Given the description of an element on the screen output the (x, y) to click on. 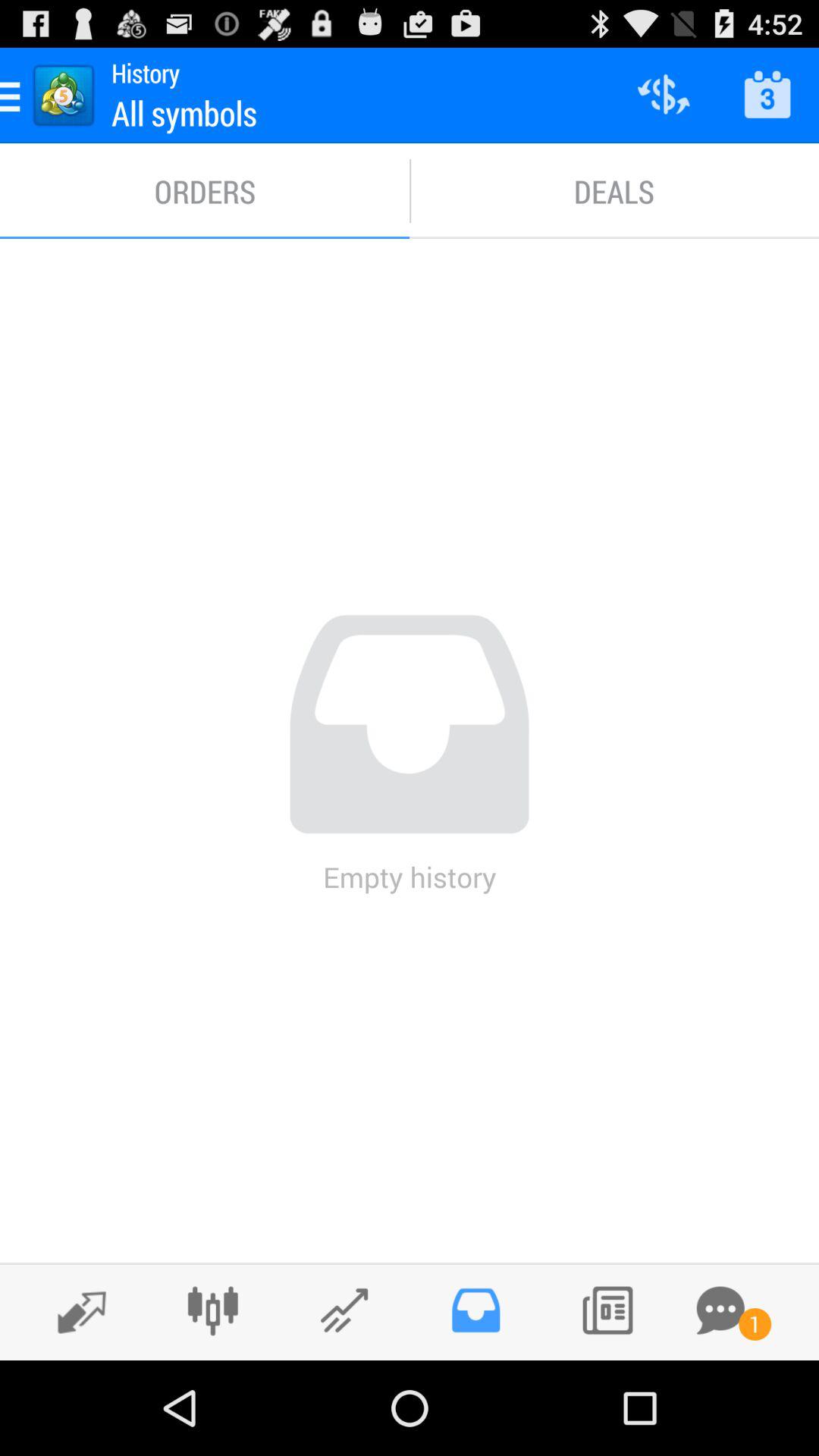
history (475, 1310)
